Given the description of an element on the screen output the (x, y) to click on. 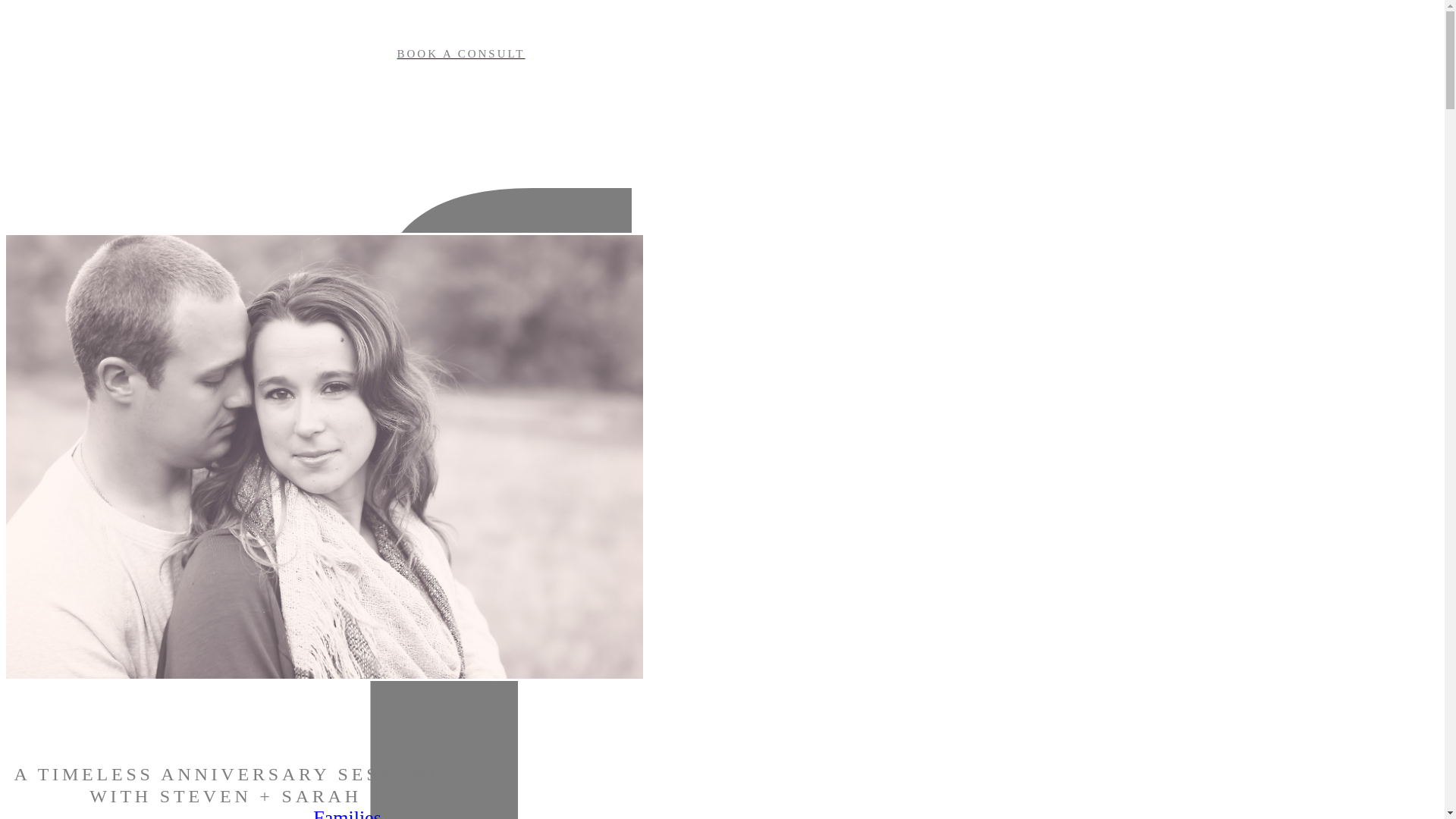
BOOK A CONSULT (460, 54)
Families (347, 812)
